Given the description of an element on the screen output the (x, y) to click on. 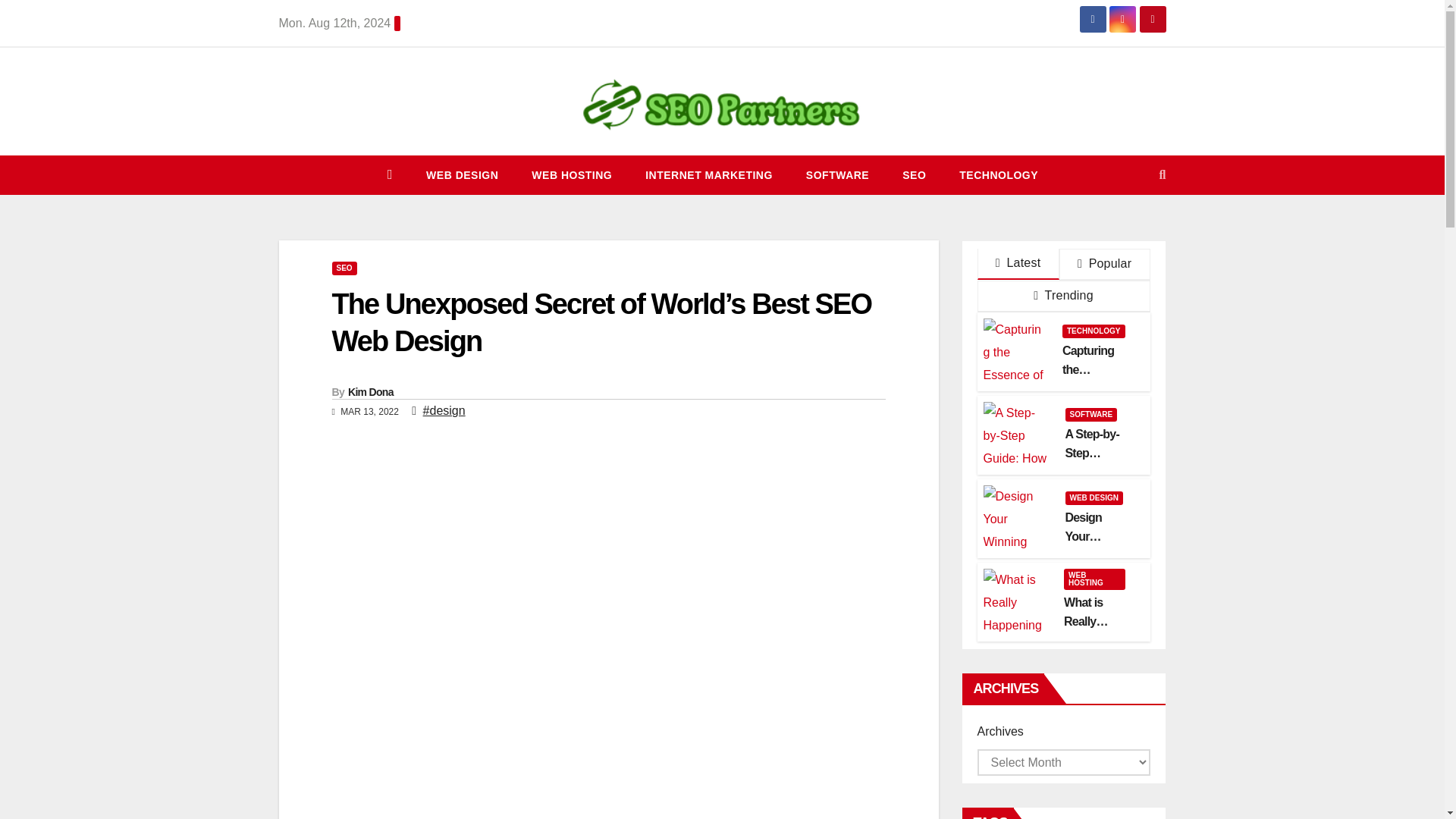
WEB HOSTING (571, 174)
Technology (998, 174)
INTERNET MARKETING (708, 174)
WEB DESIGN (462, 174)
SEO (913, 174)
Kim Dona (370, 391)
Web Hosting (571, 174)
Web Design (462, 174)
SEO (913, 174)
SEO (343, 268)
